Given the description of an element on the screen output the (x, y) to click on. 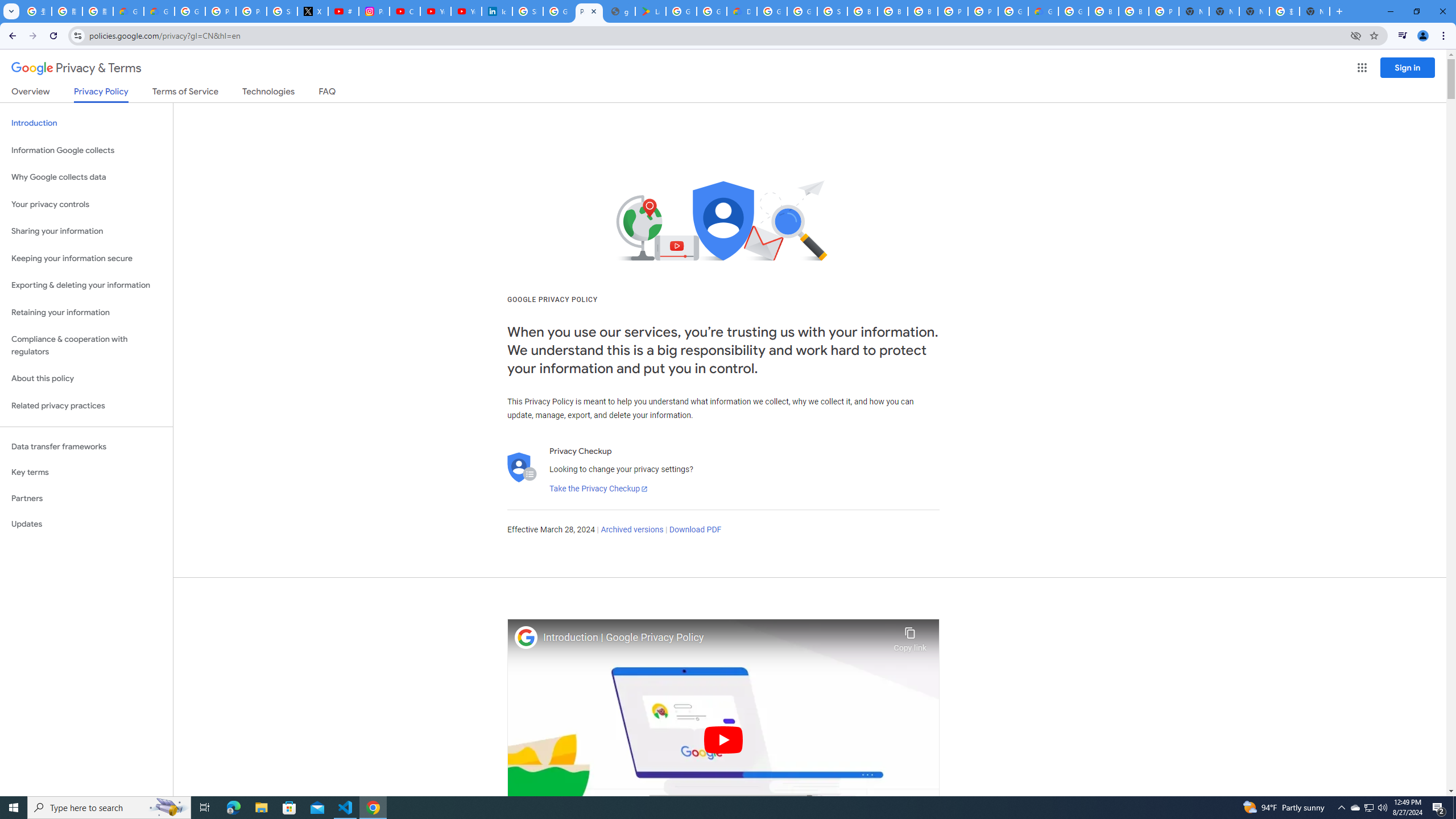
New Tab (1193, 11)
Google Cloud Platform (1012, 11)
Google Cloud Platform (771, 11)
